Given the description of an element on the screen output the (x, y) to click on. 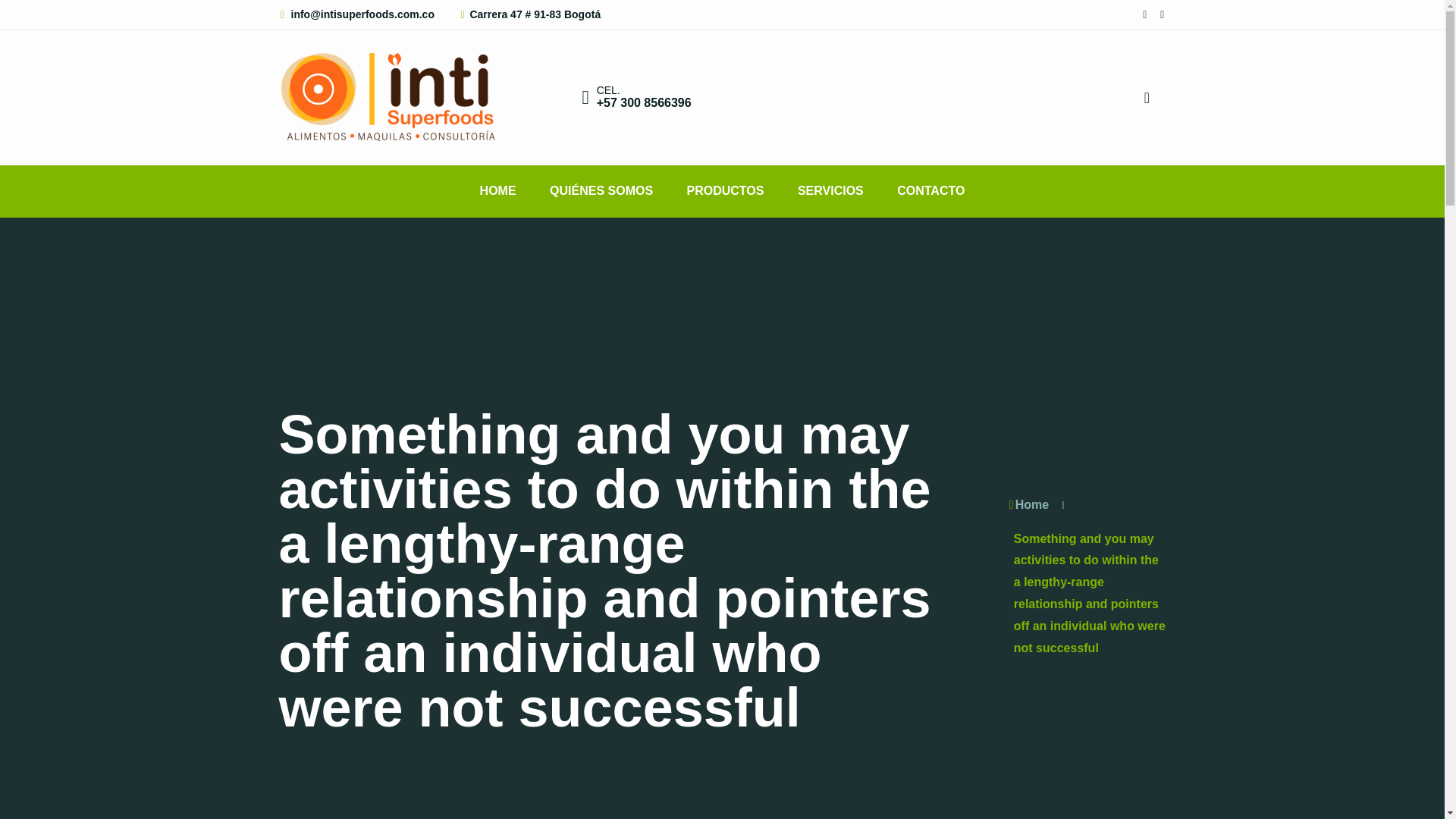
HOME (497, 191)
PRODUCTOS (725, 191)
SERVICIOS (830, 191)
CONTACTO (930, 191)
SERVICIOS (830, 191)
CONTACTO (930, 191)
Home (1027, 504)
PRODUCTOS (725, 191)
HOME (497, 191)
